Given the description of an element on the screen output the (x, y) to click on. 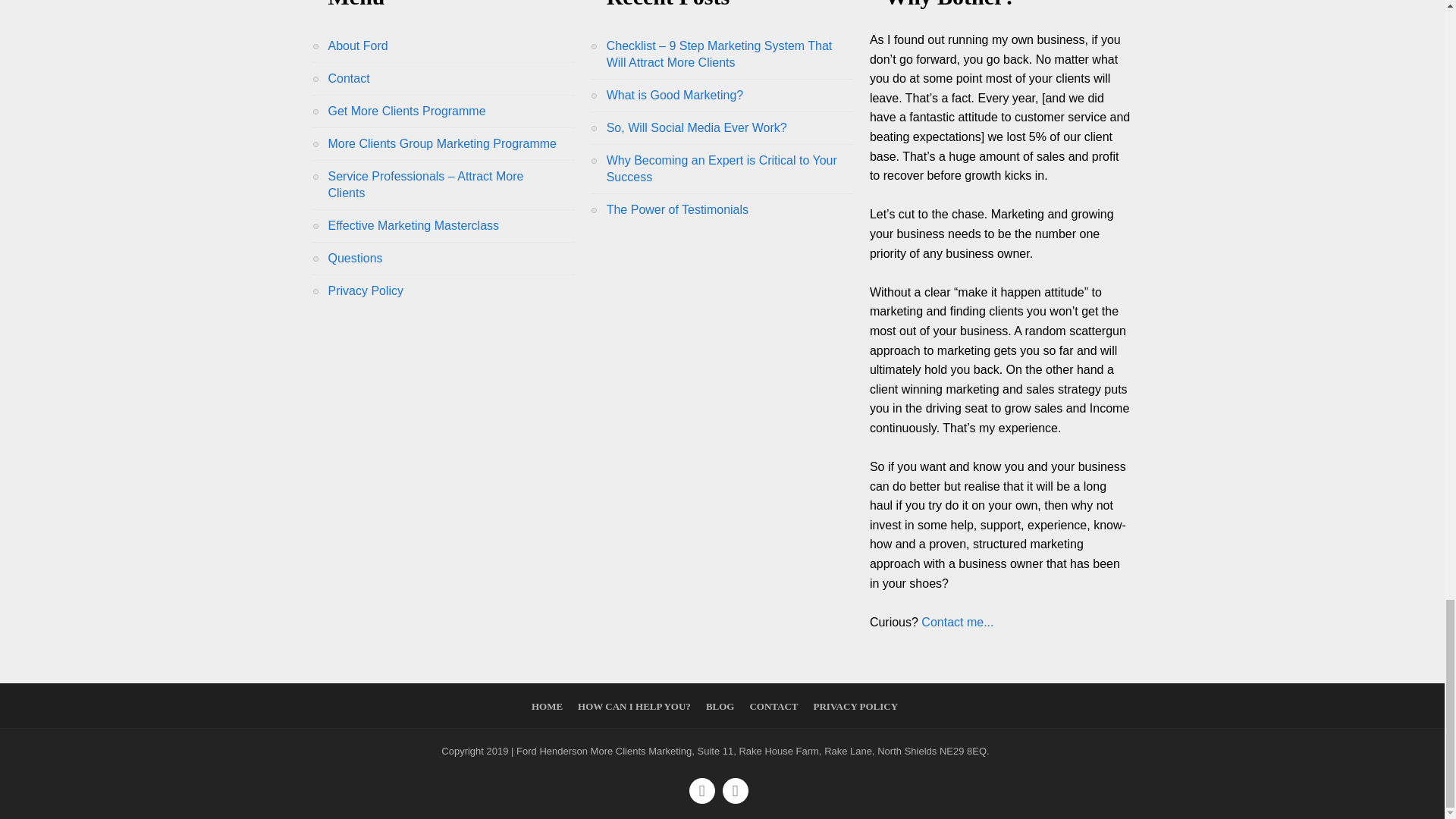
Questions (354, 257)
Get More Clients Programme (405, 110)
About Ford (357, 45)
More Clients Group Marketing Programme (441, 143)
Contact (348, 78)
Effective Marketing Masterclass (413, 225)
